Given the description of an element on the screen output the (x, y) to click on. 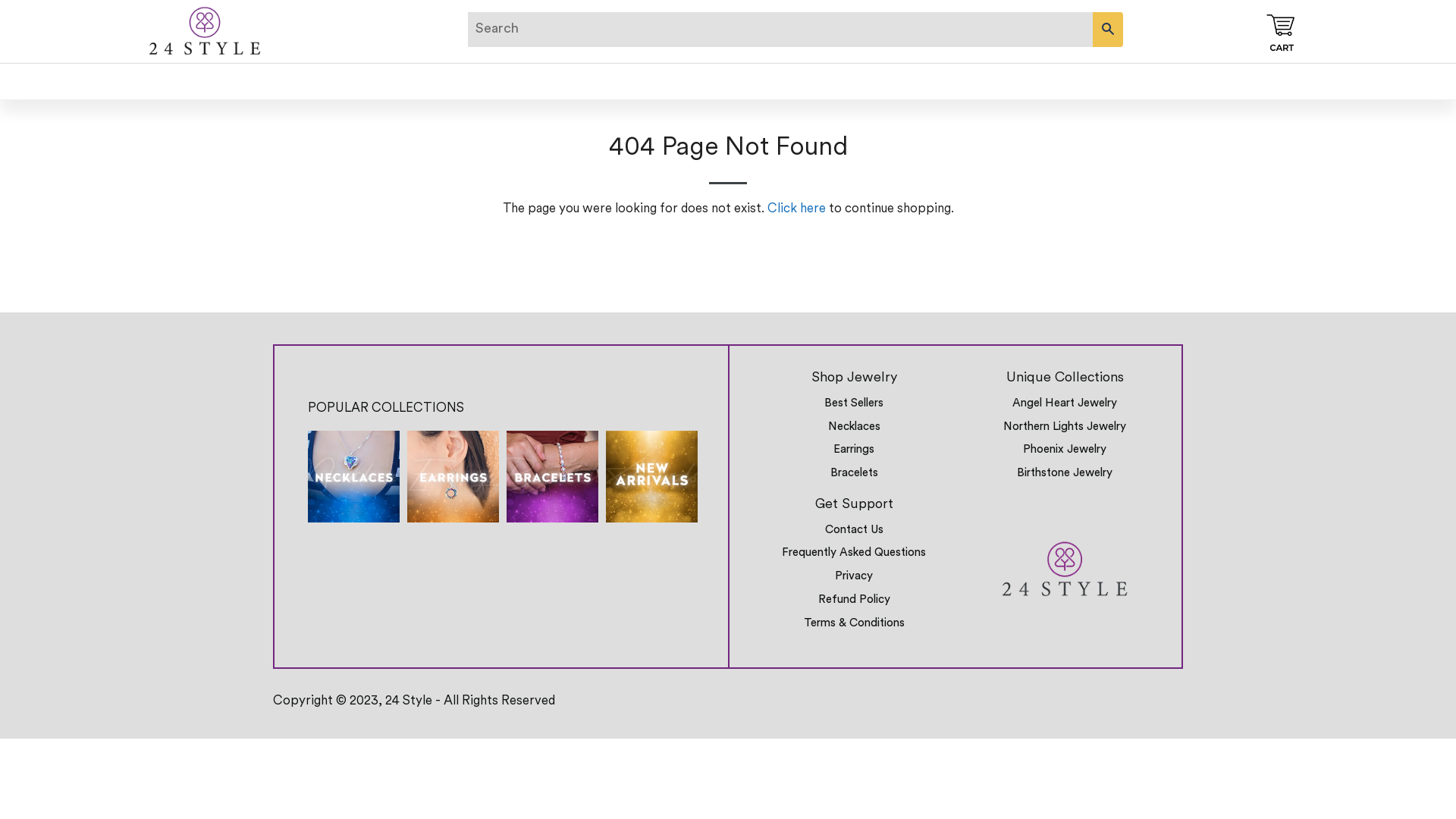
Terms & Conditions Element type: text (853, 623)
Best Sellers Element type: text (853, 403)
Necklaces Element type: text (854, 427)
Contact Us Element type: text (854, 530)
Earrings Element type: text (853, 449)
Bracelets Element type: text (853, 473)
Angel Heart Jewelry Element type: text (1064, 403)
Click here Element type: text (796, 208)
Phoenix Jewelry Element type: text (1064, 449)
Frequently Asked Questions Element type: text (853, 552)
Privacy Element type: text (853, 576)
Northern Lights Jewelry Element type: text (1064, 427)
Birthstone Jewelry Element type: text (1064, 473)
Refund Policy Element type: text (853, 599)
